Given the description of an element on the screen output the (x, y) to click on. 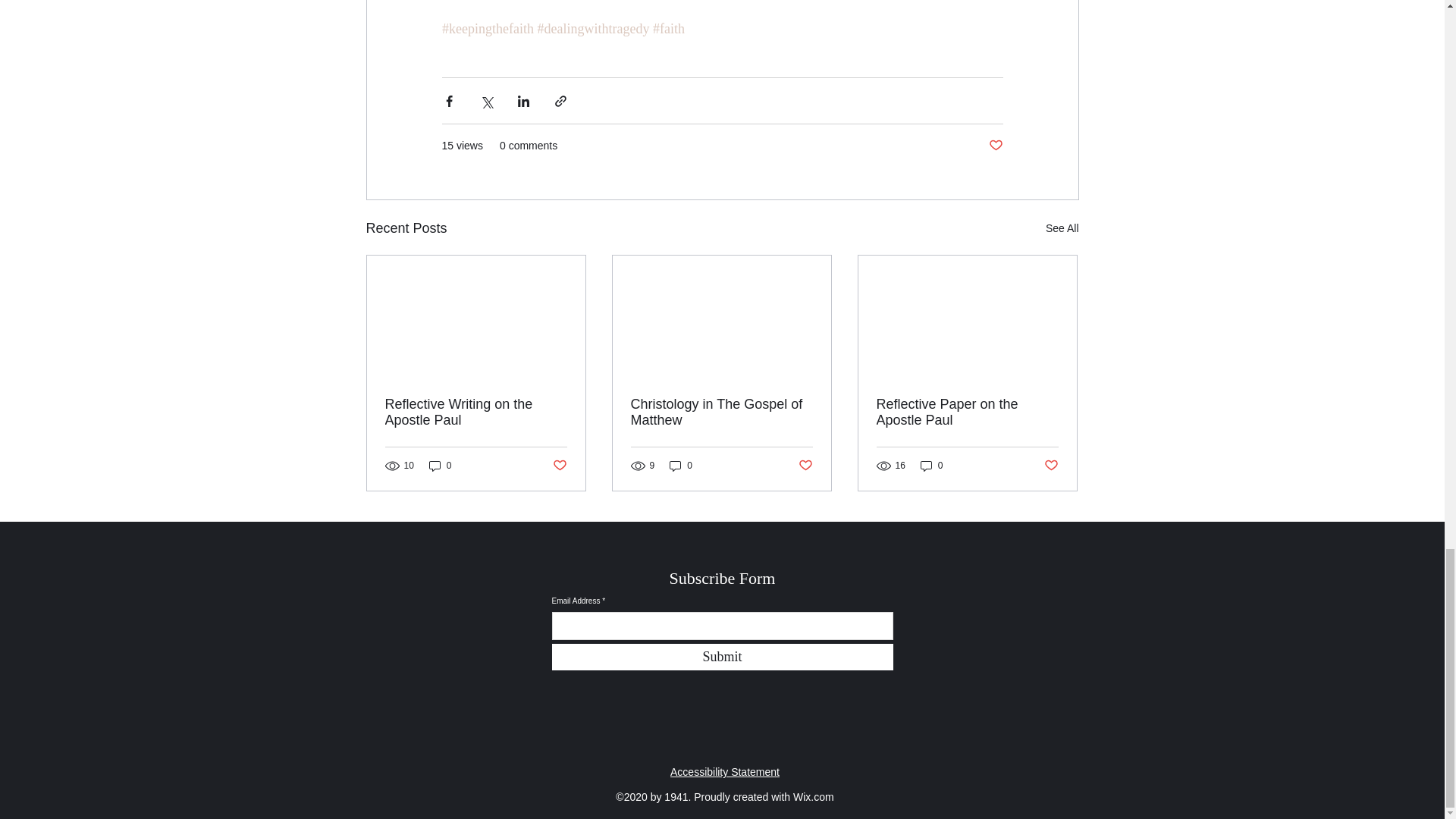
Reflective Paper on the Apostle Paul (967, 412)
0 (931, 465)
Reflective Writing on the Apostle Paul (476, 412)
Post not marked as liked (995, 145)
Christology in The Gospel of Matthew (721, 412)
Submit (722, 656)
Post not marked as liked (558, 465)
0 (681, 465)
0 (440, 465)
Post not marked as liked (1050, 465)
Accessibility Statement (723, 771)
See All (1061, 228)
Post not marked as liked (804, 465)
